Given the description of an element on the screen output the (x, y) to click on. 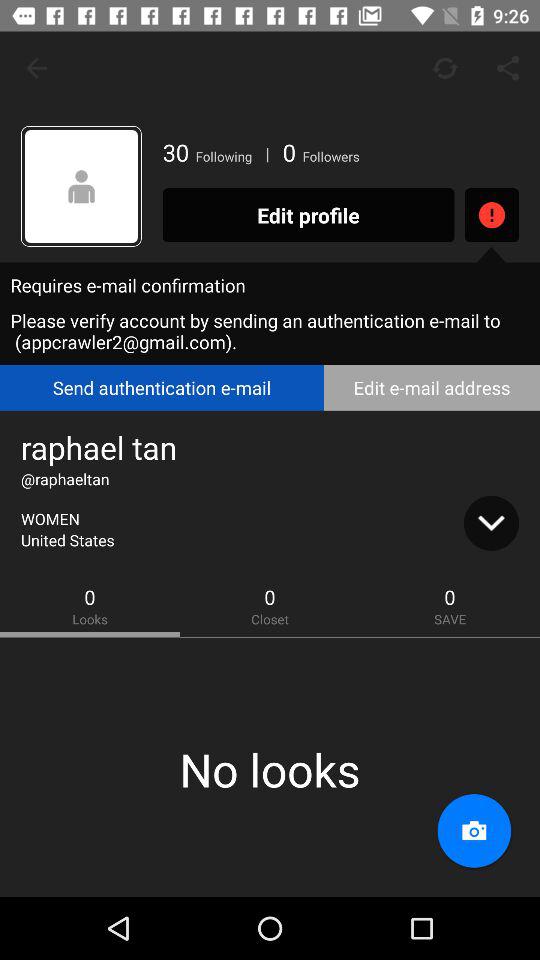
select drop down menu (491, 523)
